Given the description of an element on the screen output the (x, y) to click on. 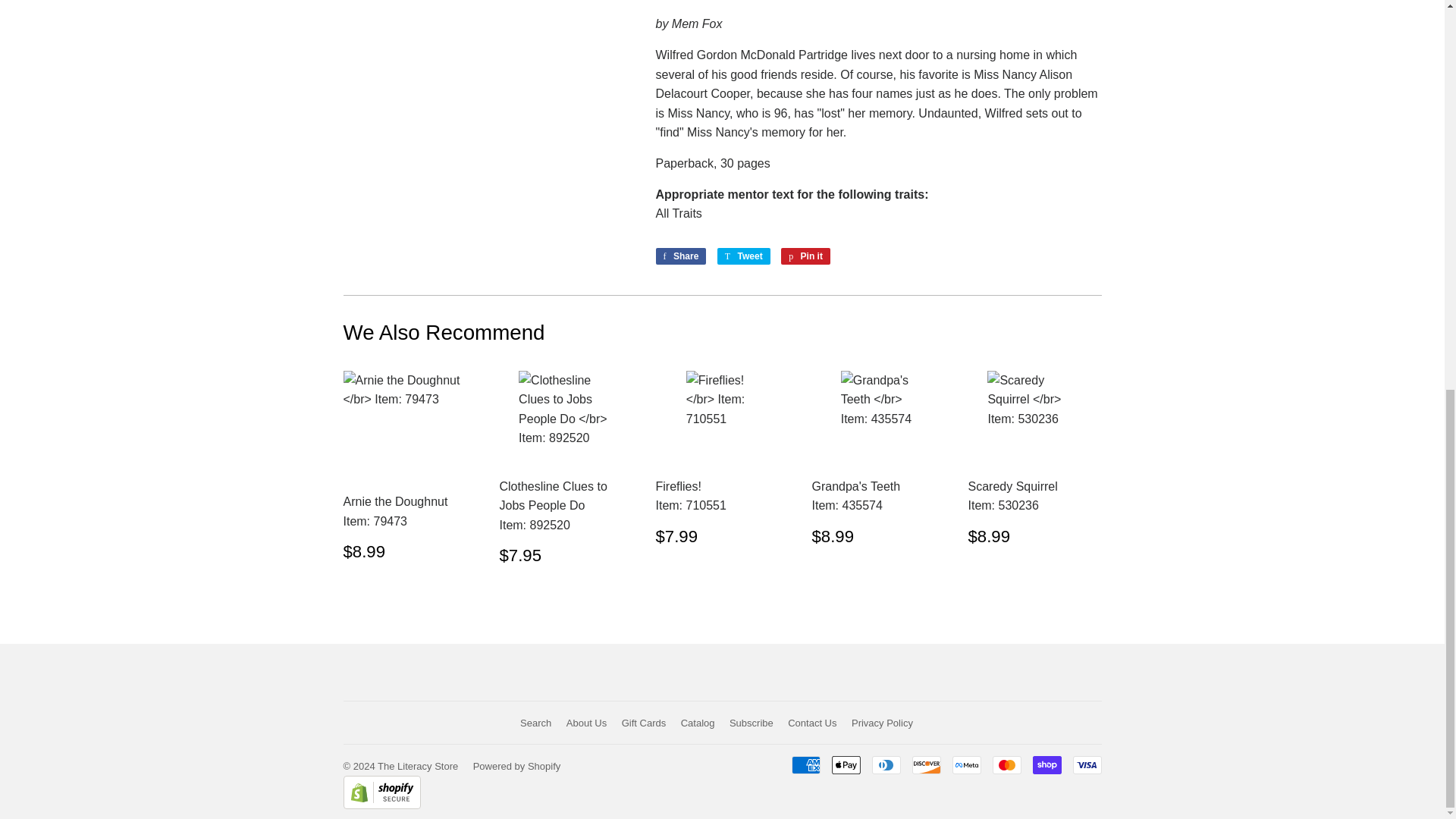
Discover (925, 764)
Visa (1085, 764)
Meta Pay (966, 764)
American Express (806, 764)
Apple Pay (845, 764)
Tweet on Twitter (743, 256)
Mastercard (1005, 764)
Diners Club (886, 764)
Share on Facebook (680, 256)
Pin on Pinterest (804, 256)
